Given the description of an element on the screen output the (x, y) to click on. 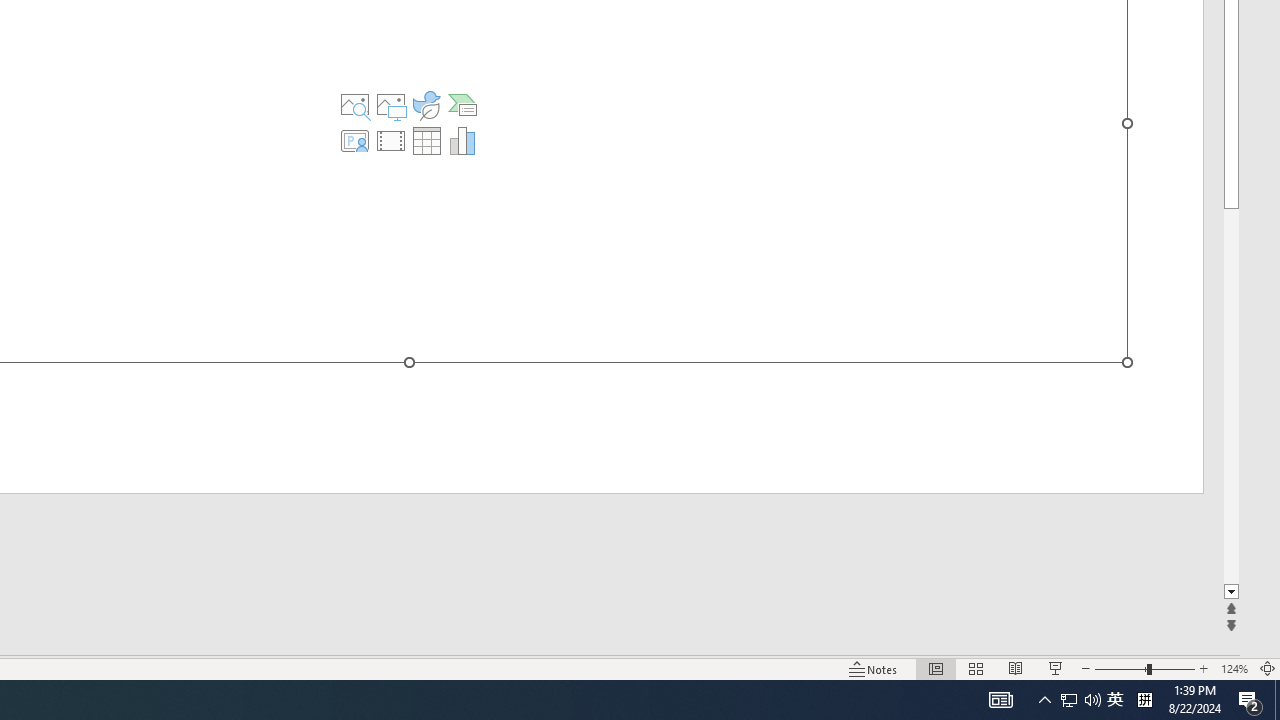
Insert a SmartArt Graphic (462, 104)
Insert Chart (462, 140)
Zoom 124% (1234, 668)
